Given the description of an element on the screen output the (x, y) to click on. 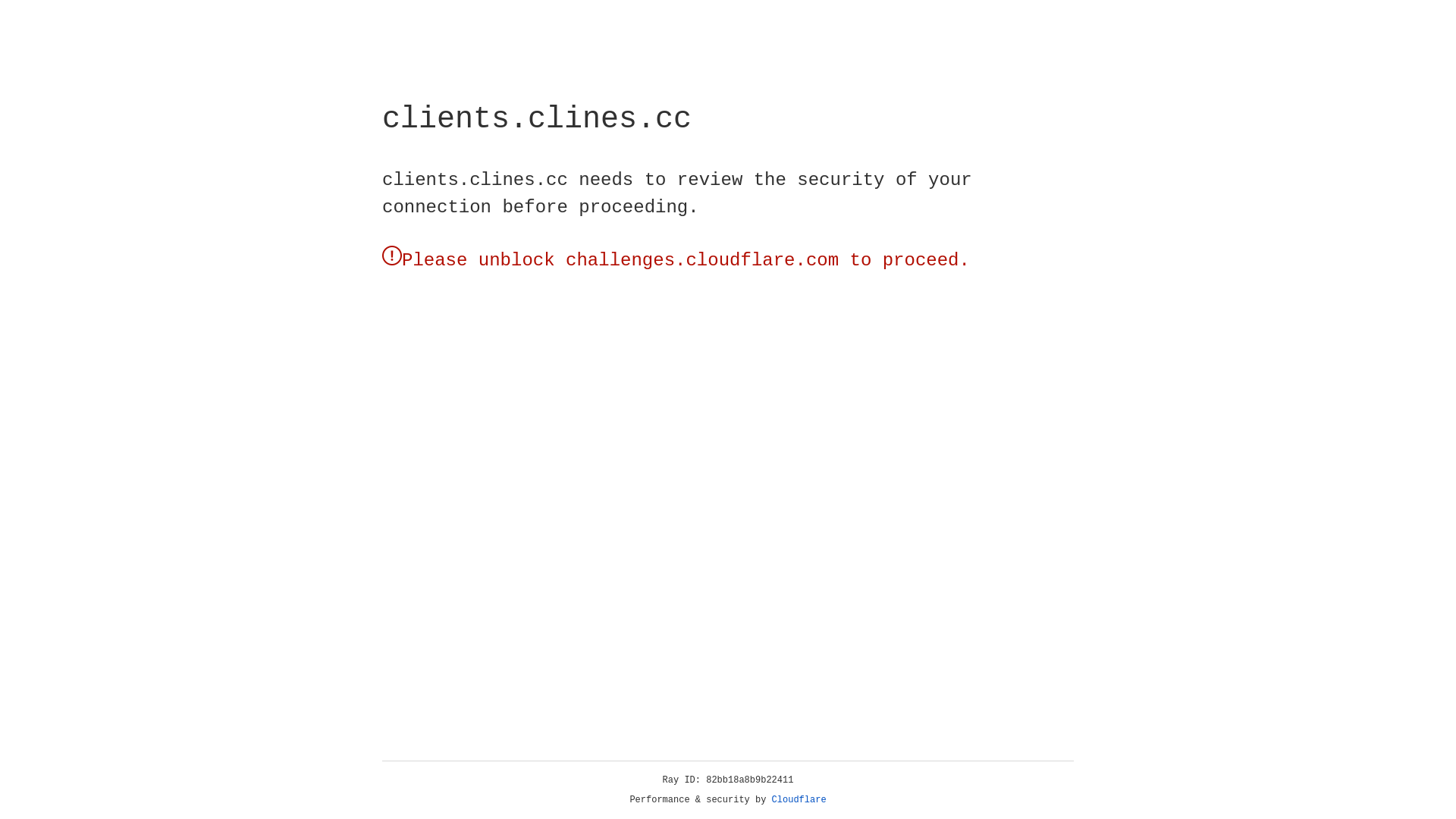
Cloudflare Element type: text (798, 799)
